Given the description of an element on the screen output the (x, y) to click on. 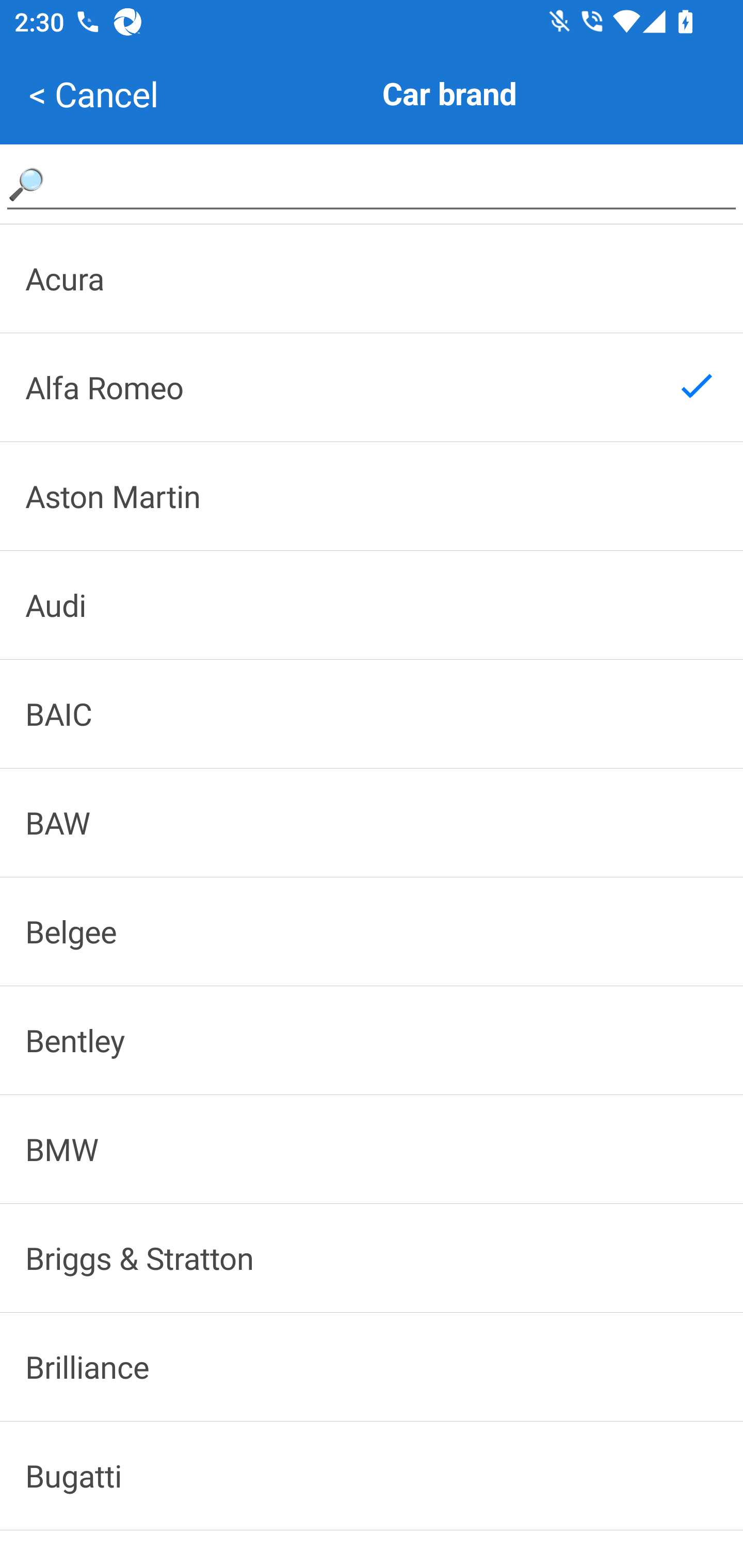
< Cancel (93, 93)
🔎 (371, 183)
Acura (371, 278)
Alfa Romeo (371, 387)
Aston Martin (371, 496)
Audi (371, 604)
BAIC (371, 714)
BAW (371, 822)
Belgee (371, 932)
Bentley (371, 1040)
BMW (371, 1148)
Briggs & Stratton (371, 1258)
Brilliance (371, 1366)
Bugatti (371, 1476)
